Given the description of an element on the screen output the (x, y) to click on. 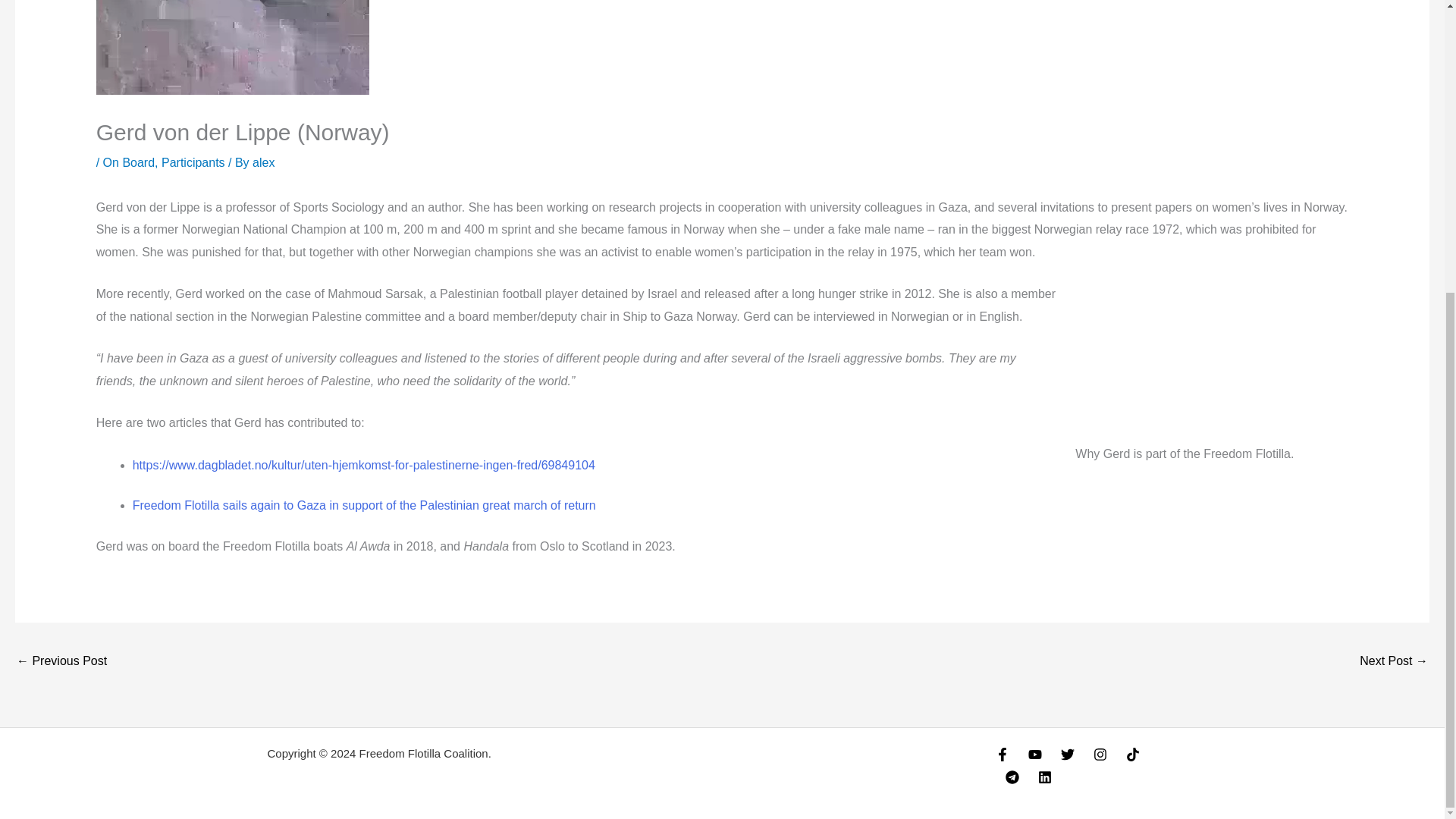
View all posts by alex (263, 162)
Gerd von der Lippe (1211, 359)
Southampton England - Handala Visits July 21-24 (61, 662)
